Given the description of an element on the screen output the (x, y) to click on. 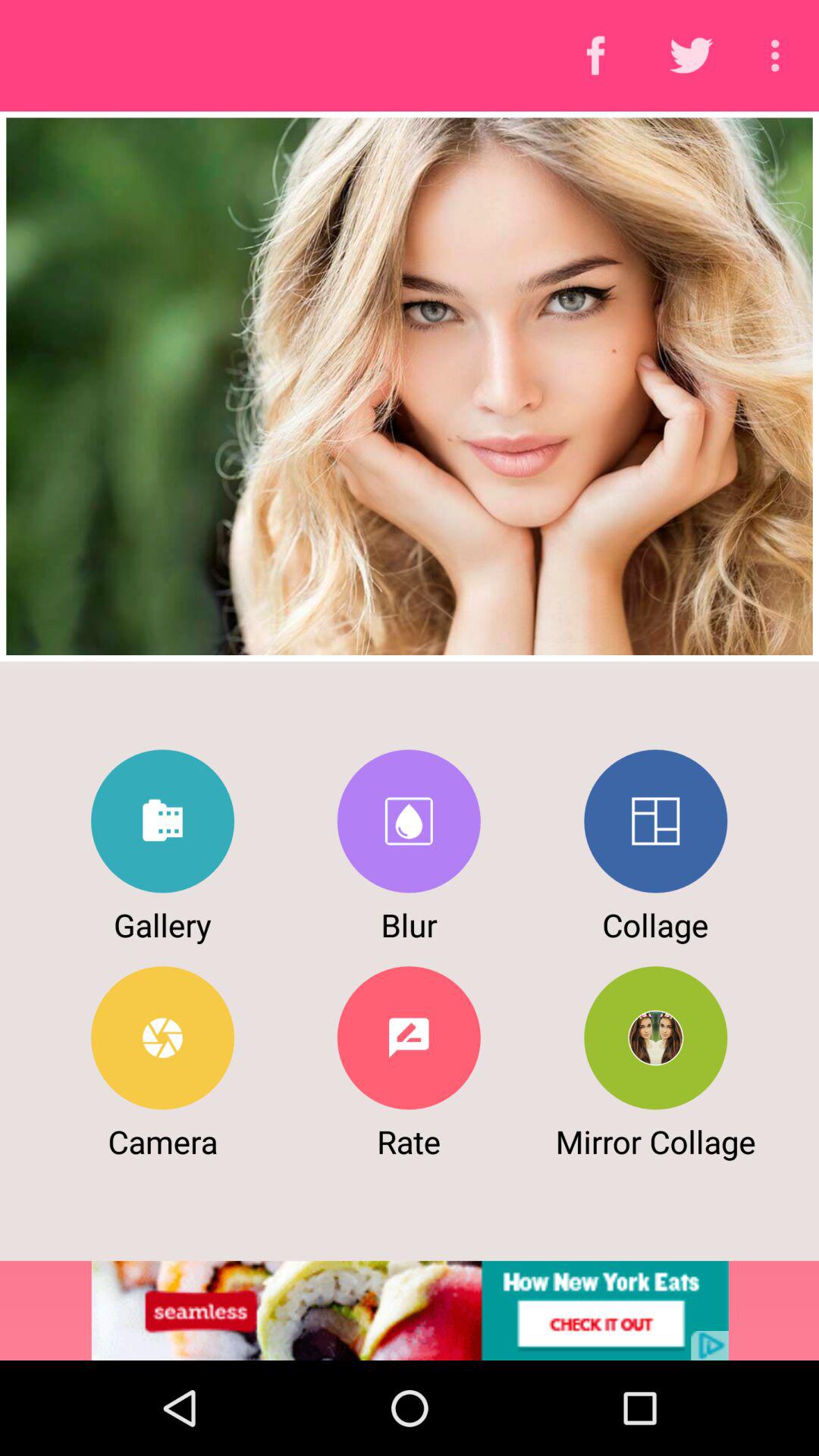
go to advertisement (409, 1310)
